Given the description of an element on the screen output the (x, y) to click on. 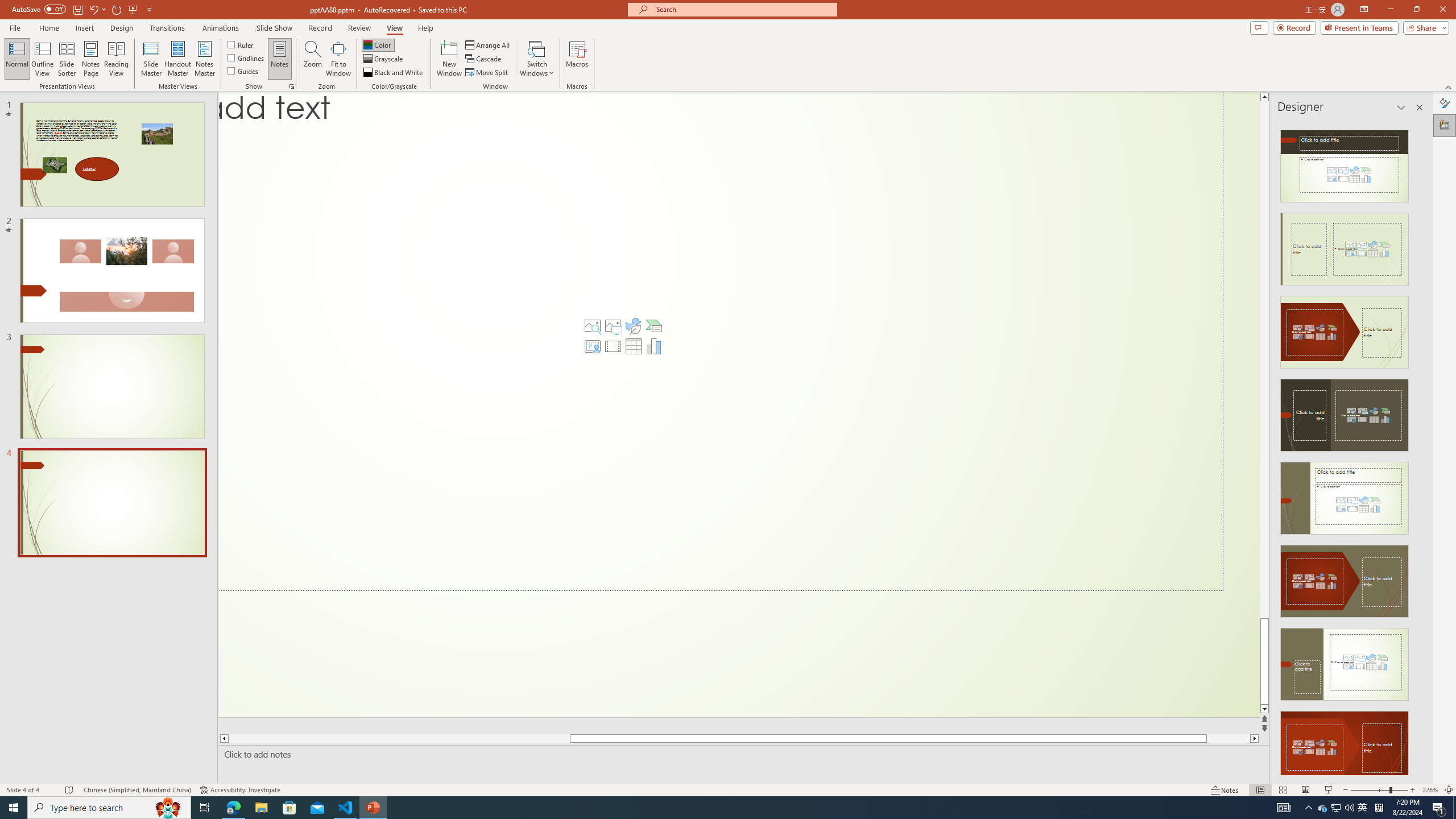
Handout Master (177, 58)
Zoom 226% (1430, 790)
Insert Table (633, 346)
Guides (243, 69)
